Given the description of an element on the screen output the (x, y) to click on. 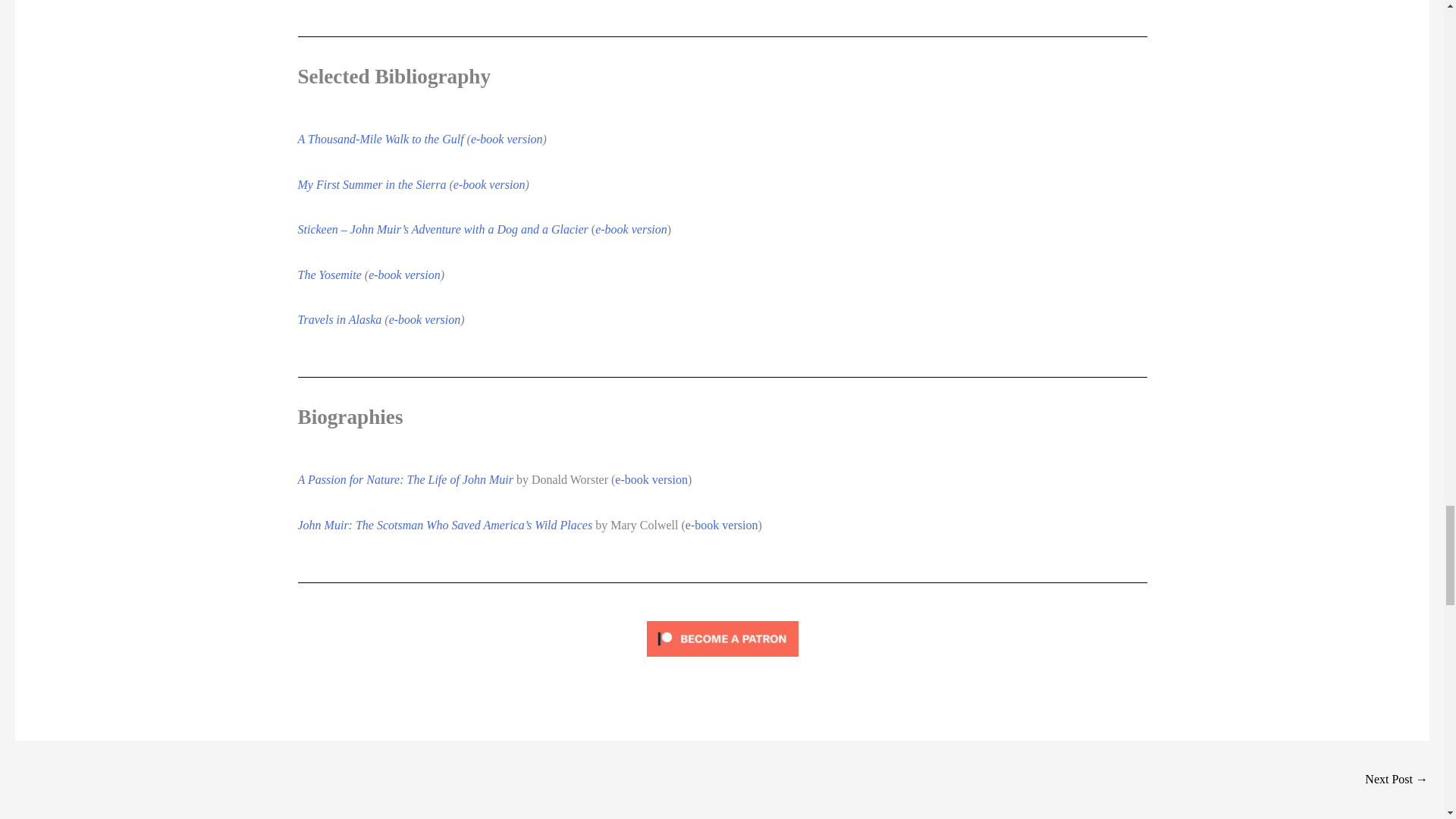
e-book version (488, 184)
My First Summer in the Sierra (371, 184)
The Yosemite (329, 274)
e-book version (506, 138)
A Thousand-Mile Walk to the Gulf (380, 138)
e-book version (630, 228)
